Given the description of an element on the screen output the (x, y) to click on. 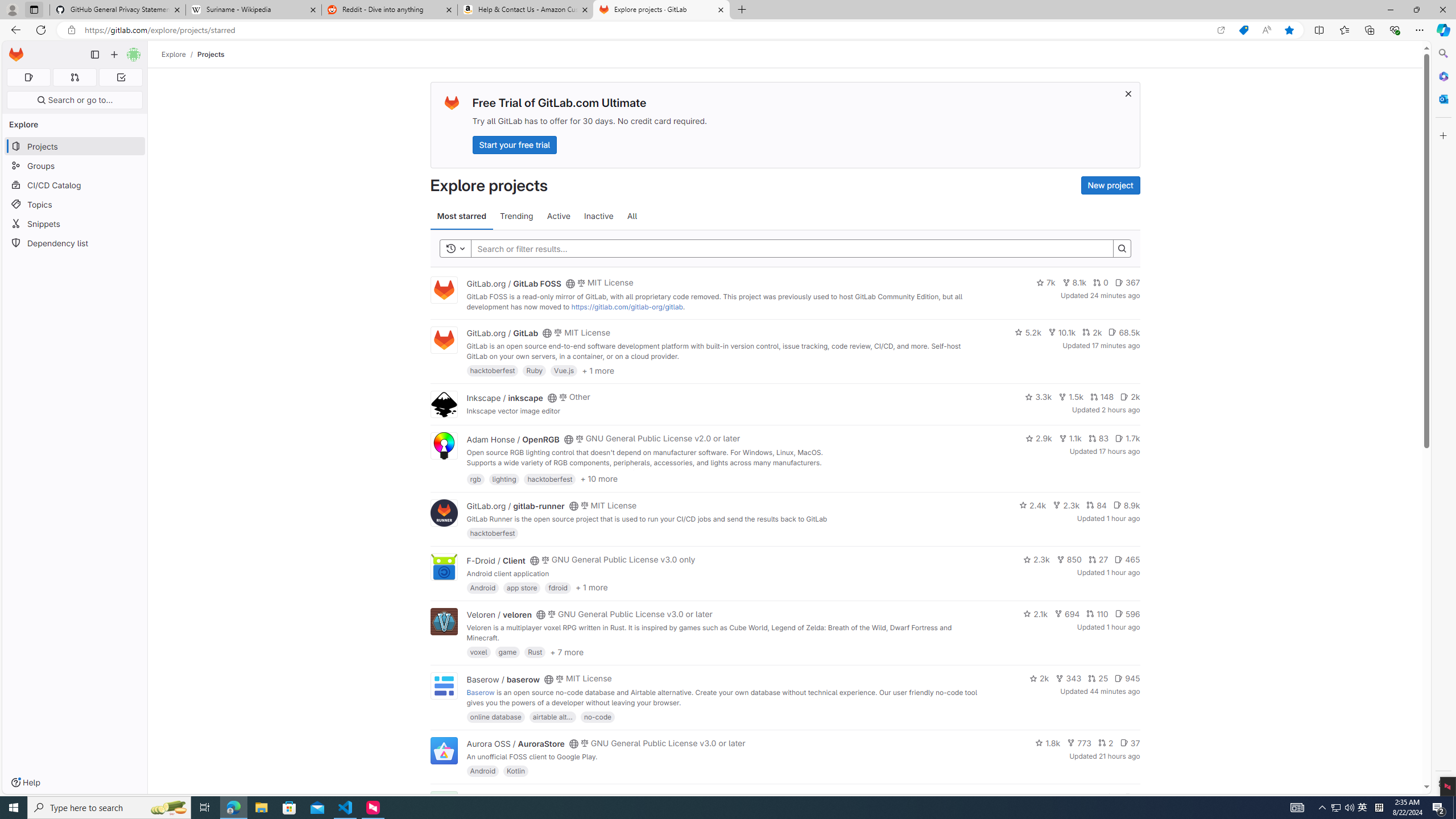
rgb (475, 478)
Assigned issues 0 (28, 76)
10.1k (1061, 331)
Toggle history (455, 248)
Side bar (1443, 418)
F (443, 805)
2 (1105, 742)
Baserow / baserow (502, 678)
Snippets (74, 223)
Customize (1442, 135)
